Given the description of an element on the screen output the (x, y) to click on. 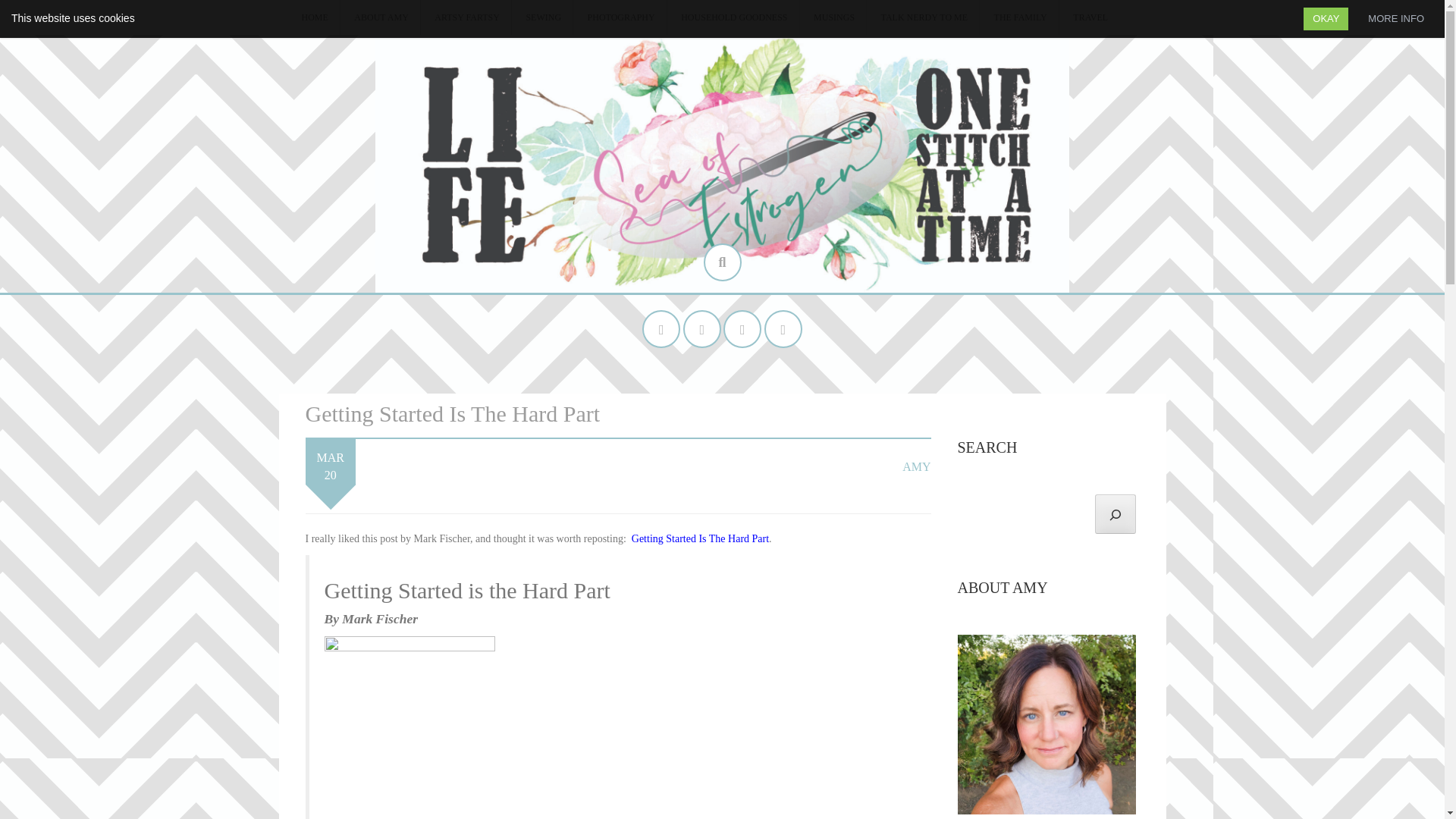
AMY (916, 466)
SEWING (542, 17)
TALK NERDY TO ME (924, 17)
MUSINGS (833, 17)
HOME (315, 17)
ARTSY FARTSY (466, 17)
ABOUT AMY (380, 17)
TRAVEL (1090, 17)
HOUSEHOLD GOODNESS (734, 17)
IMG579 (409, 727)
